Given the description of an element on the screen output the (x, y) to click on. 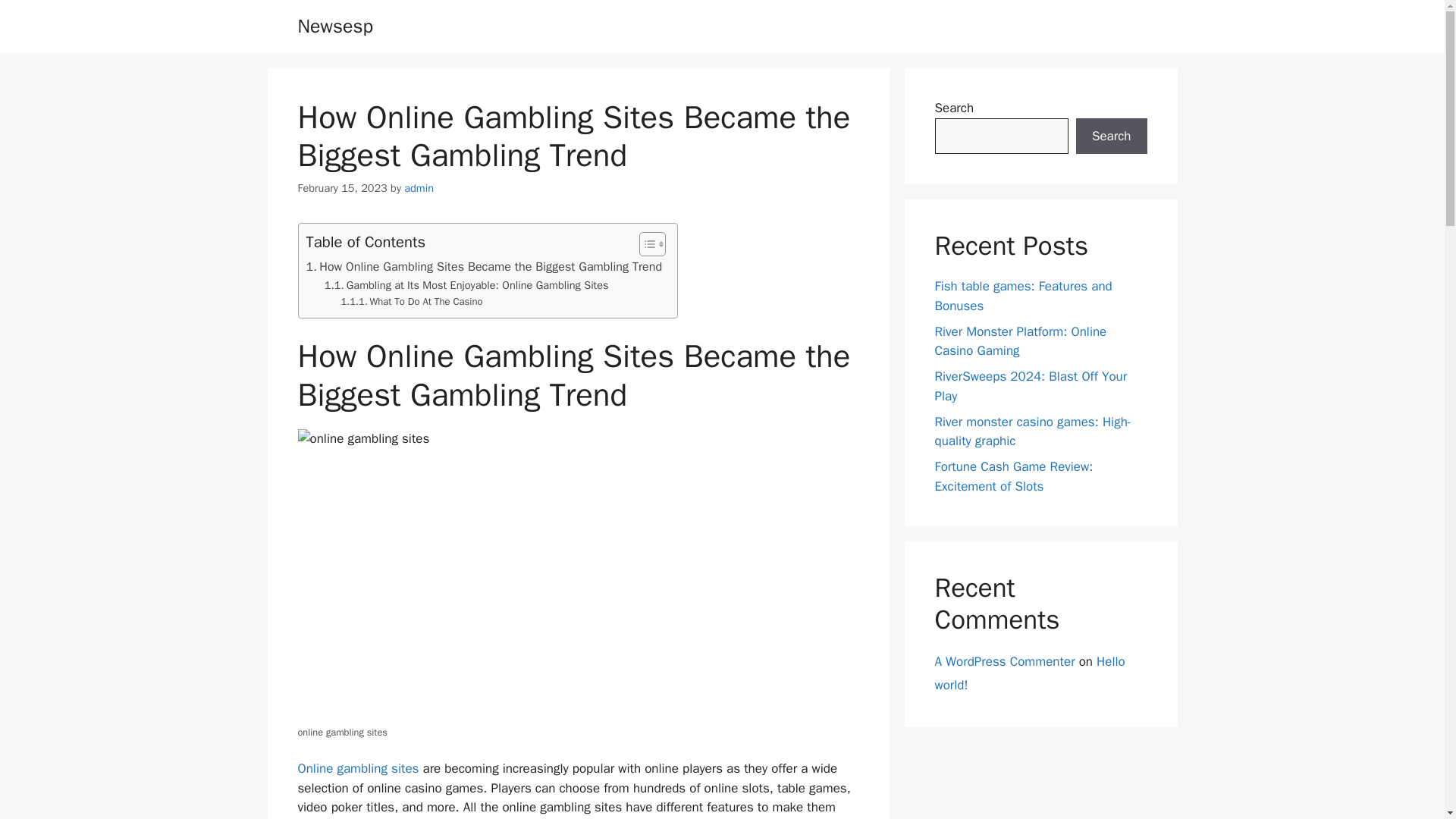
Newsesp (334, 25)
How Online Gambling Sites Became the Biggest Gambling Trend (483, 266)
Fish table games: Features and Bonuses (1023, 295)
Online gambling sites (358, 768)
Search (1111, 135)
admin (418, 187)
Gambling at Its Most Enjoyable: Online Gambling Sites (466, 285)
View all posts by admin (418, 187)
A WordPress Commenter (1004, 661)
River Monster Platform: Online Casino Gaming (1020, 340)
Gambling at Its Most Enjoyable: Online Gambling Sites (466, 285)
How Online Gambling Sites Became the Biggest Gambling Trend (483, 266)
What To Do At The Casino (411, 302)
Fortune Cash Game Review: Excitement of Slots (1013, 476)
What To Do At The Casino (411, 302)
